Given the description of an element on the screen output the (x, y) to click on. 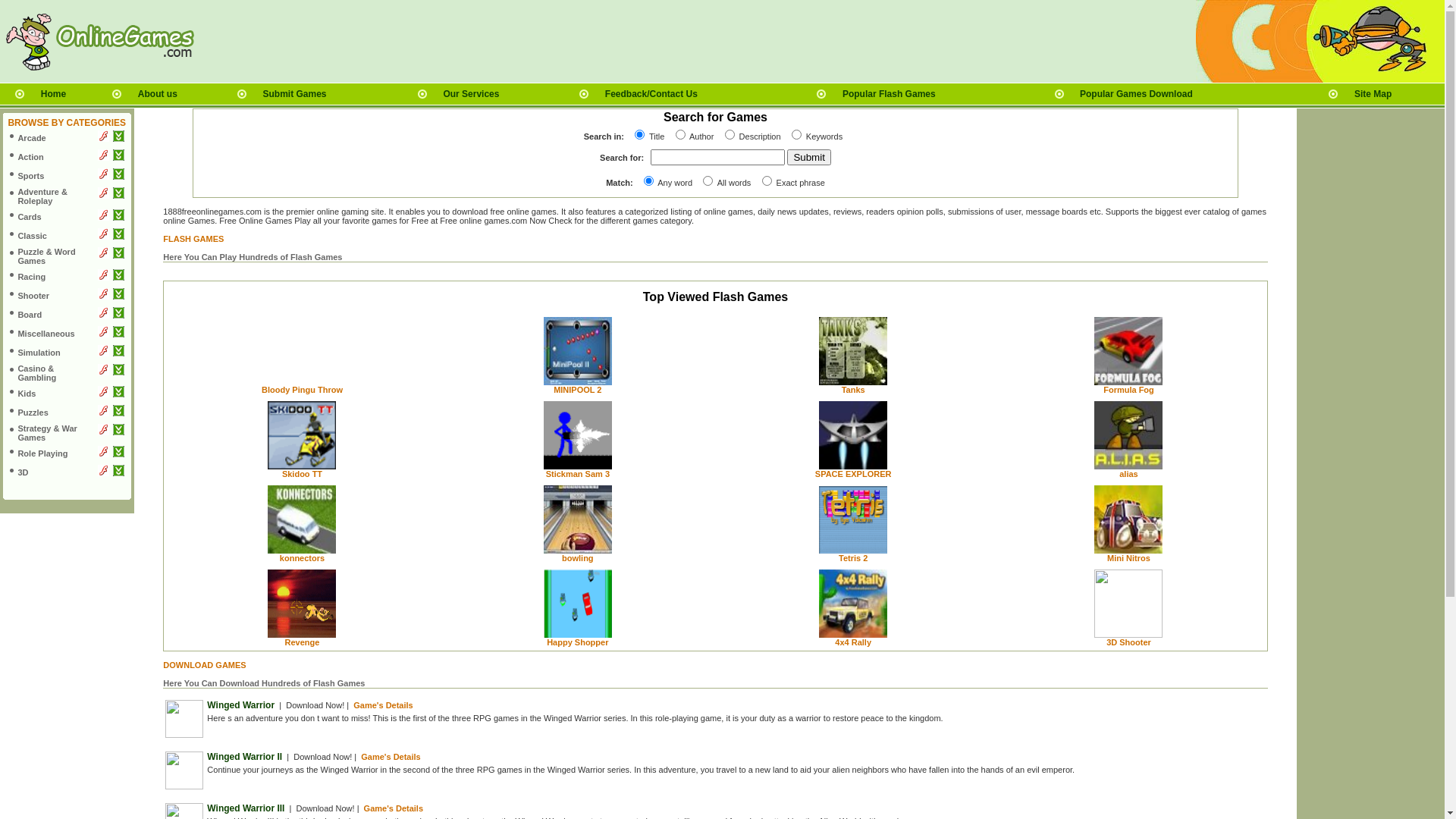
Play Puzzles Flash Games Element type: hover (103, 412)
Play Simulation Flash Games Element type: hover (103, 352)
Download Simulation Games Element type: hover (118, 352)
Submit Games Element type: text (294, 93)
Play Kids Flash Games Element type: hover (103, 393)
Our Services Element type: text (470, 93)
Download Casino & Gambling Games Element type: hover (118, 371)
Download Puzzle & Word Games Games Element type: hover (118, 255)
Stickman Sam 3 Element type: text (577, 473)
Download Miscellaneous Games Element type: hover (118, 333)
Submit Element type: text (808, 157)
Play 3D Flash Games Element type: hover (103, 472)
4x4 Rally Element type: text (852, 641)
Play Cards Flash Games Element type: hover (103, 217)
Feedback/Contact Us Element type: text (651, 93)
Download Racing Games Element type: hover (118, 277)
Home Element type: text (52, 93)
konnectors Element type: text (301, 557)
Download Action Games Element type: hover (118, 157)
Popular Games Download Element type: text (1135, 93)
Play Casino & Gambling Flash Games Element type: hover (103, 371)
Play Board Flash Games Element type: hover (103, 315)
Download Puzzles Games Element type: hover (118, 412)
Play Racing Flash Games Element type: hover (103, 277)
Formula Fog Element type: text (1128, 389)
Play Shooter Flash Games Element type: hover (103, 296)
Game's Details Element type: text (382, 704)
SPACE EXPLORER Element type: text (853, 473)
Play Miscellaneous Flash Games Element type: hover (103, 333)
MINIPOOL 2 Element type: text (577, 389)
Revenge Element type: text (302, 641)
Play Sports Flash Games Element type: hover (103, 176)
Game's Details Element type: text (393, 807)
bowling Element type: text (577, 557)
Download Role Playing Games Element type: hover (118, 453)
Site Map Element type: text (1372, 93)
FLASH GAMES Element type: text (193, 238)
Download Board Games Element type: hover (118, 315)
Play Classic Flash Games Element type: hover (103, 236)
About us Element type: text (157, 93)
Play Action Flash Games Element type: hover (103, 157)
Play Role Playing Flash Games Element type: hover (103, 453)
Play Adventure & Roleplay Flash Games Element type: hover (103, 195)
Bloody Pingu Throw Element type: text (301, 389)
Download Strategy & War Games Games Element type: hover (118, 431)
Tanks Element type: text (853, 389)
DOWNLOAD GAMES Element type: text (204, 664)
Download 3D Games Element type: hover (118, 472)
Happy Shopper Element type: text (577, 641)
Skidoo TT Element type: text (302, 473)
Download Shooter Games Element type: hover (118, 296)
Play Arcade Flash Games Element type: hover (103, 138)
Game's Details Element type: text (390, 756)
alias Element type: text (1128, 473)
Mini Nitros Element type: text (1128, 557)
Play Strategy & War Games Flash Games Element type: hover (103, 431)
Download Sports Games Element type: hover (118, 176)
Download Arcade Games Element type: hover (118, 138)
Tetris 2 Element type: text (852, 557)
Download Cards Games Element type: hover (118, 217)
3D Shooter Element type: text (1128, 641)
Popular Flash Games Element type: text (888, 93)
Play Puzzle & Word Games Flash Games Element type: hover (103, 255)
Download Adventure & Roleplay Games Element type: hover (118, 195)
Download Classic Games Element type: hover (118, 236)
Download Kids Games Element type: hover (118, 393)
